Given the description of an element on the screen output the (x, y) to click on. 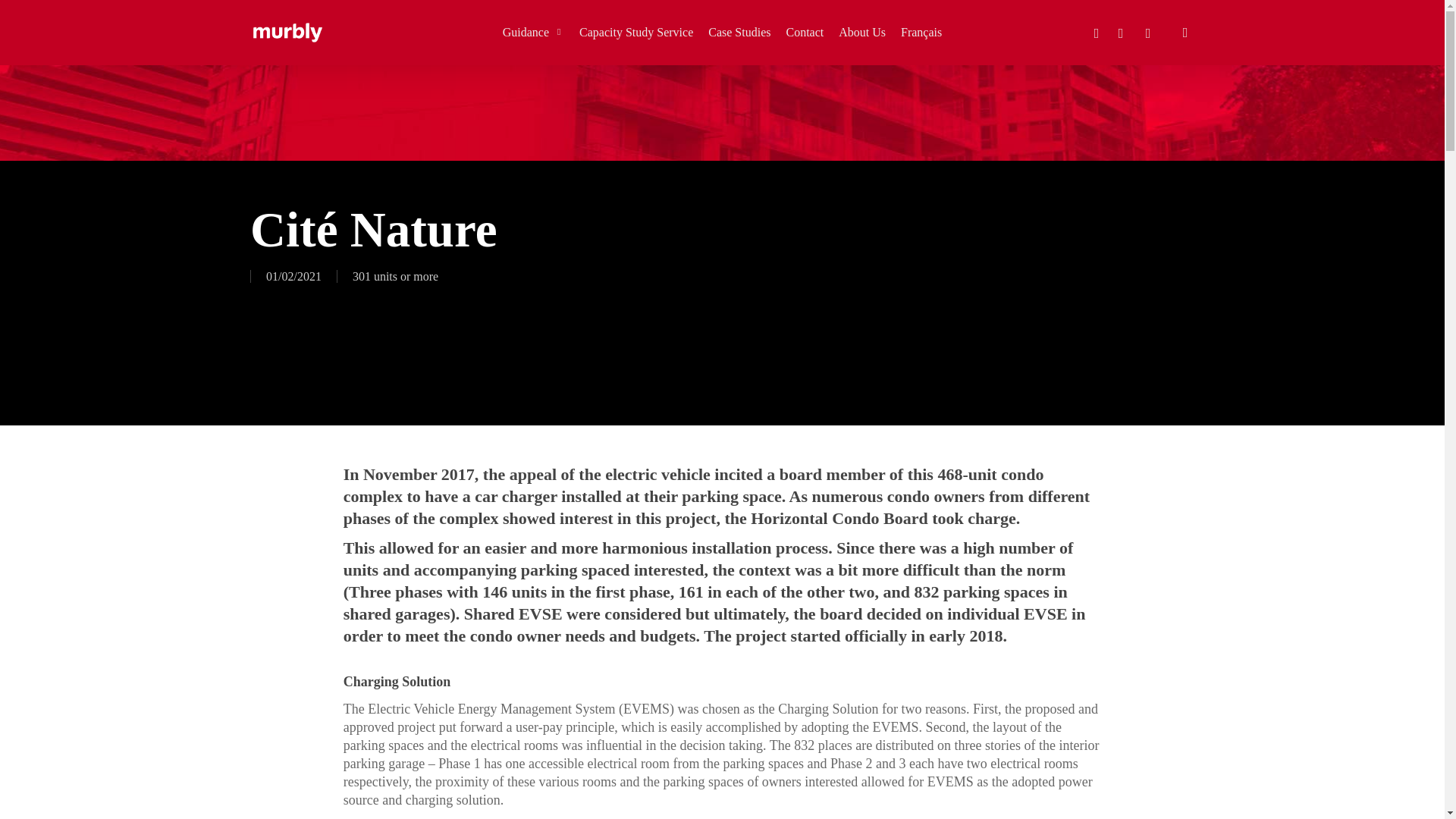
facebook (1096, 32)
instagram (1147, 32)
Guidance (533, 32)
Case Studies (738, 32)
search (1184, 32)
301 units or more (395, 276)
youtube (1120, 32)
Capacity Study Service (636, 32)
About Us (861, 32)
Contact (805, 32)
